Given the description of an element on the screen output the (x, y) to click on. 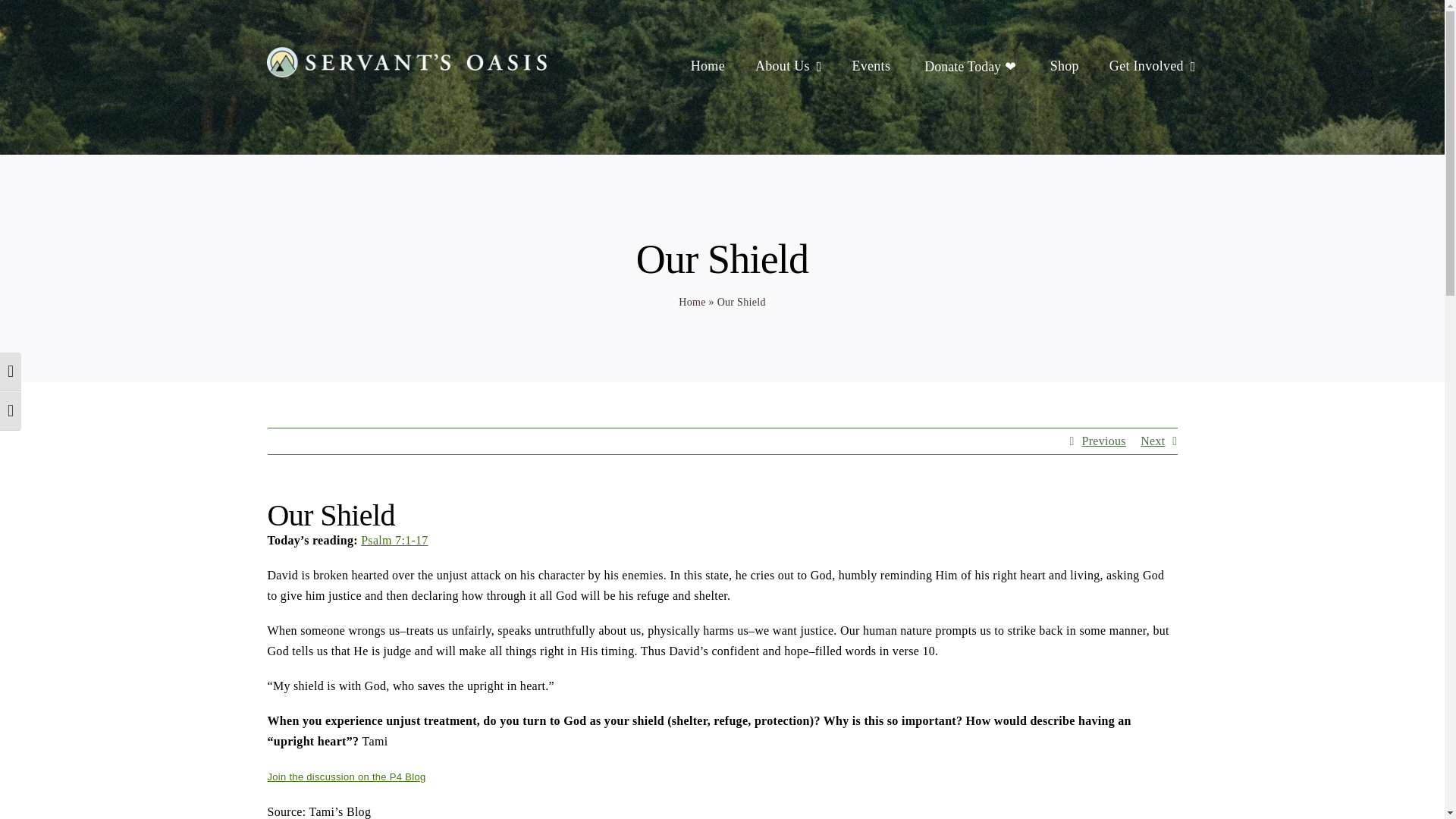
Psalm 7:1-17 (394, 540)
About Us (782, 66)
Join the discussion on the P4 Blog (345, 776)
Next (1152, 441)
Get Involved (1146, 66)
Previous (1103, 441)
Home (691, 301)
